Given the description of an element on the screen output the (x, y) to click on. 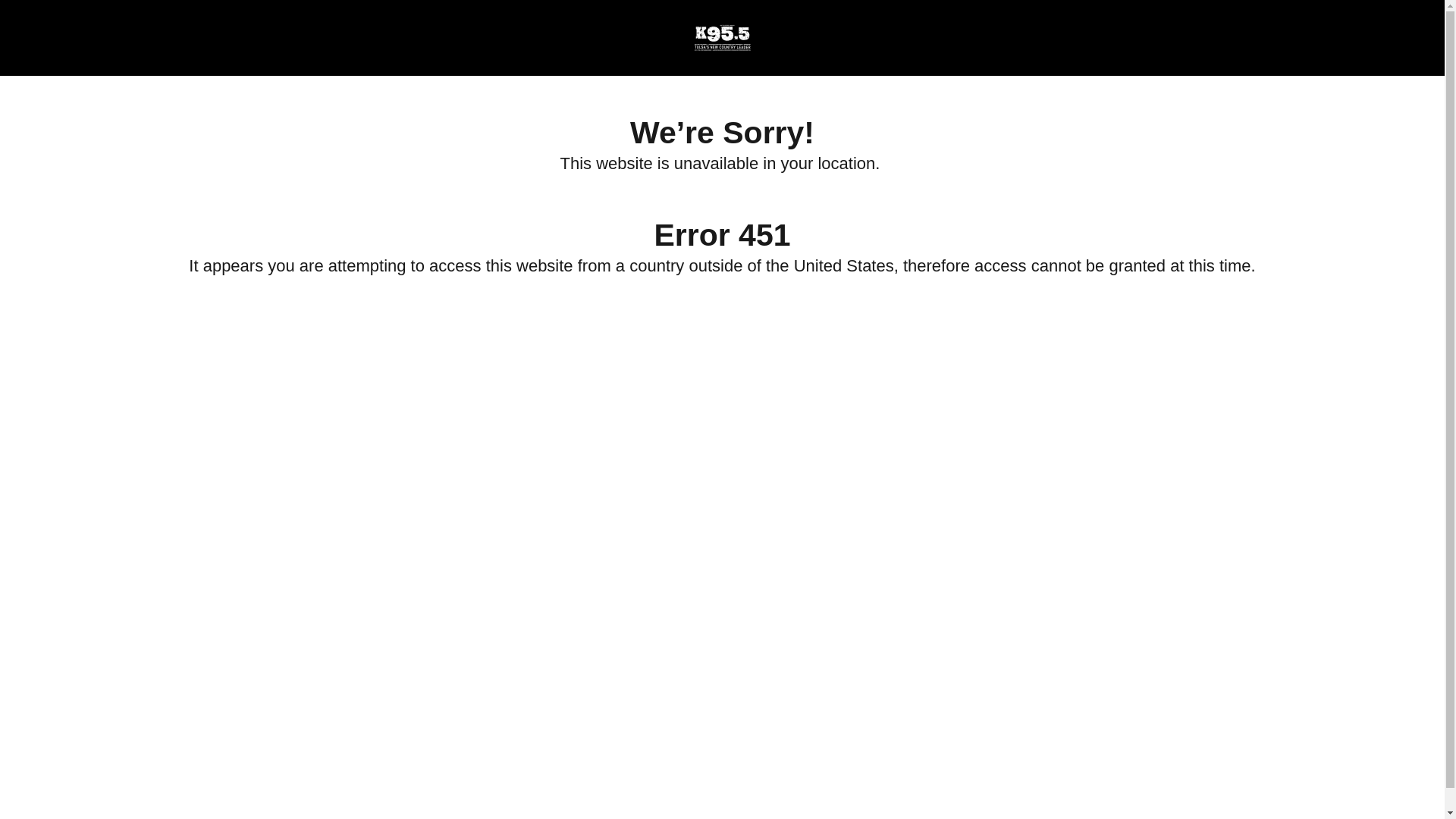
K95.5 Tulsa (721, 37)
